Given the description of an element on the screen output the (x, y) to click on. 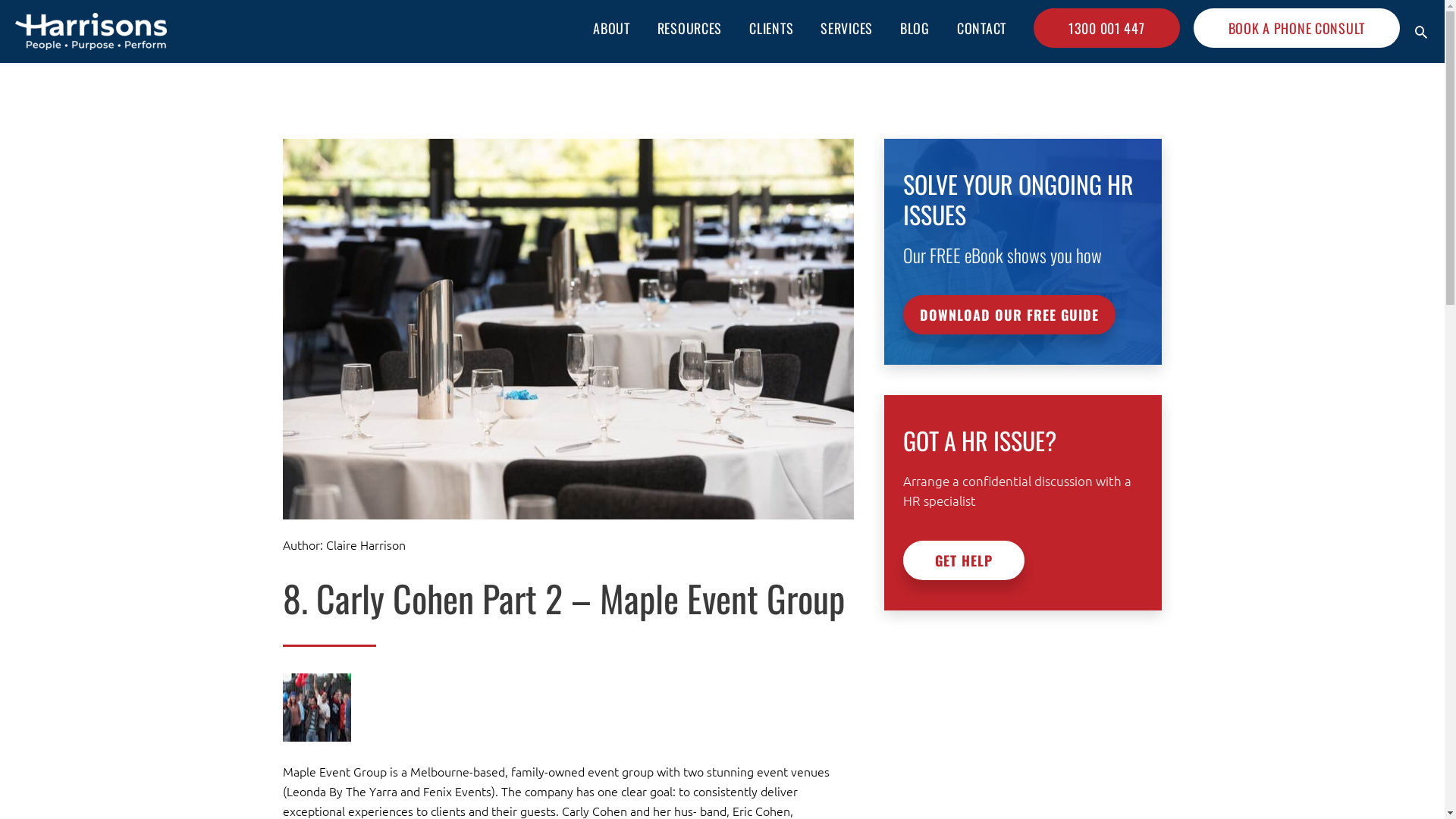
BOOK A PHONE CONSULT Element type: text (1296, 27)
Search Element type: text (1420, 30)
1300 001 447 Element type: text (1106, 27)
GET HELP Element type: text (963, 560)
ABOUT Element type: text (611, 27)
BLOG Element type: text (914, 27)
DOWNLOAD OUR FREE GUIDE Element type: text (1009, 314)
SERVICES Element type: text (846, 27)
CONTACT Element type: text (981, 27)
RESOURCES Element type: text (689, 27)
CLIENTS Element type: text (770, 27)
